Given the description of an element on the screen output the (x, y) to click on. 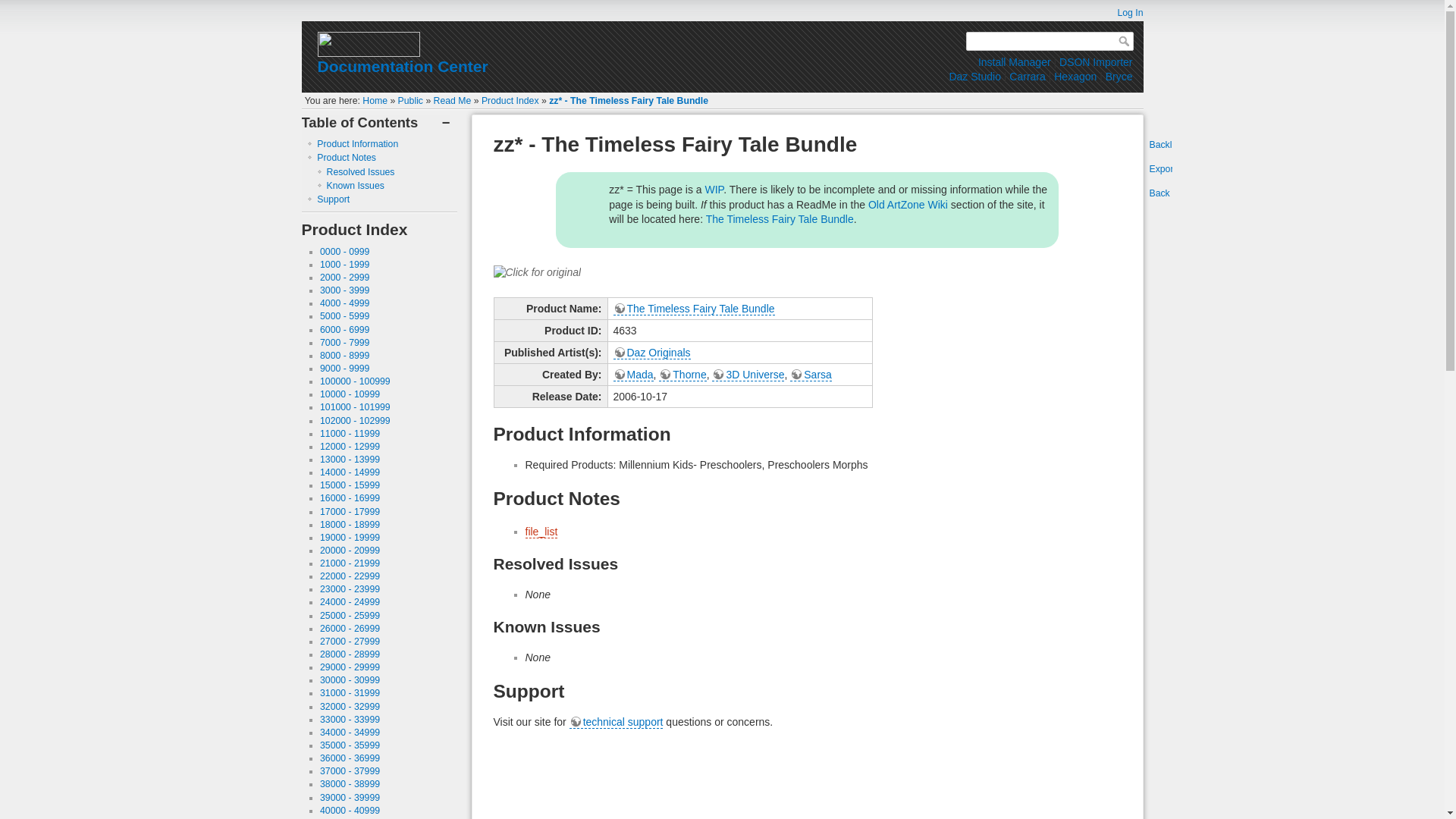
100000 - 100999 (355, 380)
Product Index (509, 100)
Log In (1122, 12)
9000 - 9999 (344, 368)
3000 - 3999 (344, 290)
public:software:dazstudio:start (974, 76)
Home (374, 100)
14000 - 14999 (350, 471)
Search (1125, 40)
8000 - 8999 (344, 355)
101000 - 101999 (355, 407)
Bryce (1118, 76)
Product Information (357, 143)
Log In (1122, 12)
Read Me (452, 100)
